Given the description of an element on the screen output the (x, y) to click on. 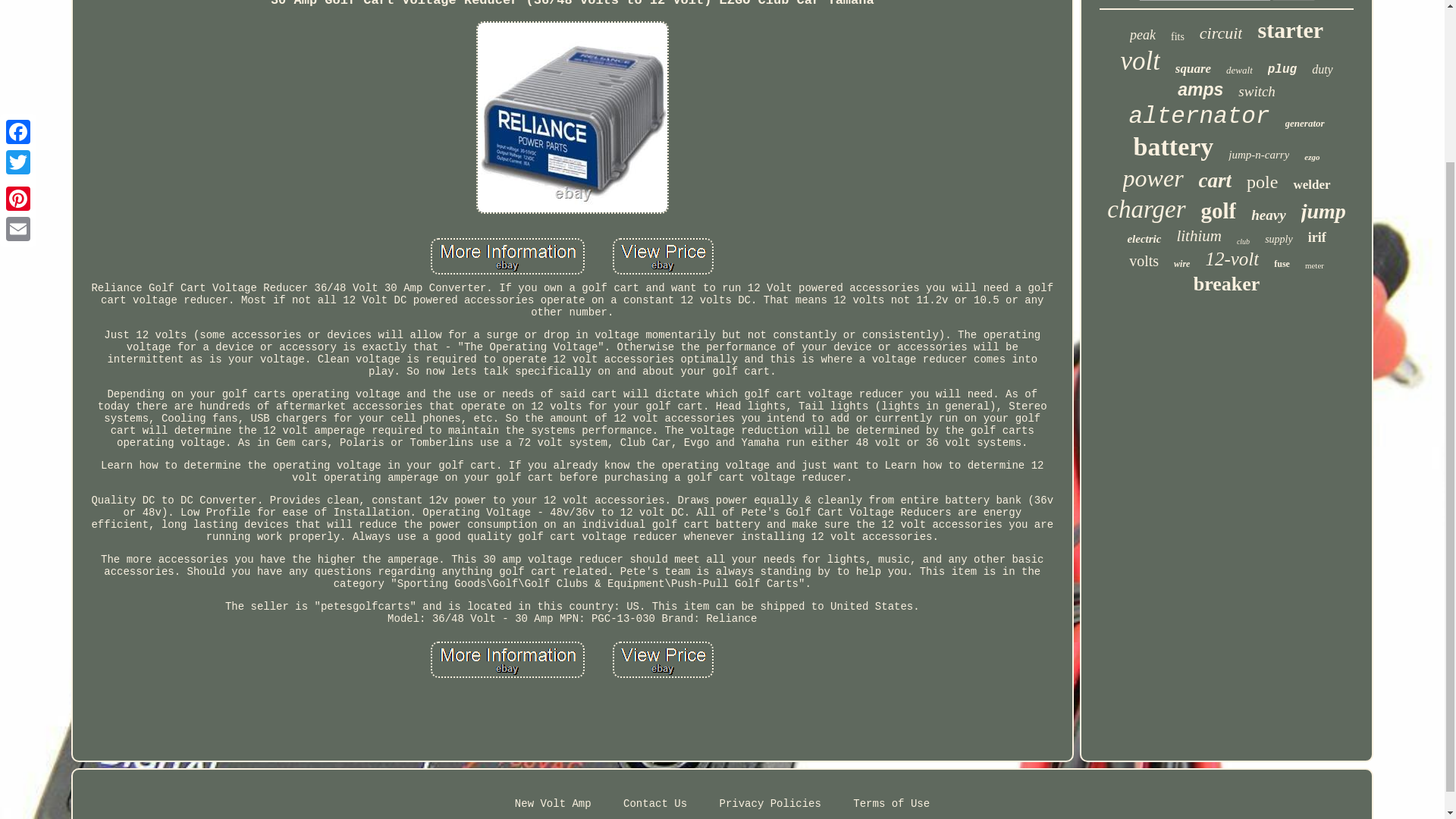
Search (1293, 0)
